Given the description of an element on the screen output the (x, y) to click on. 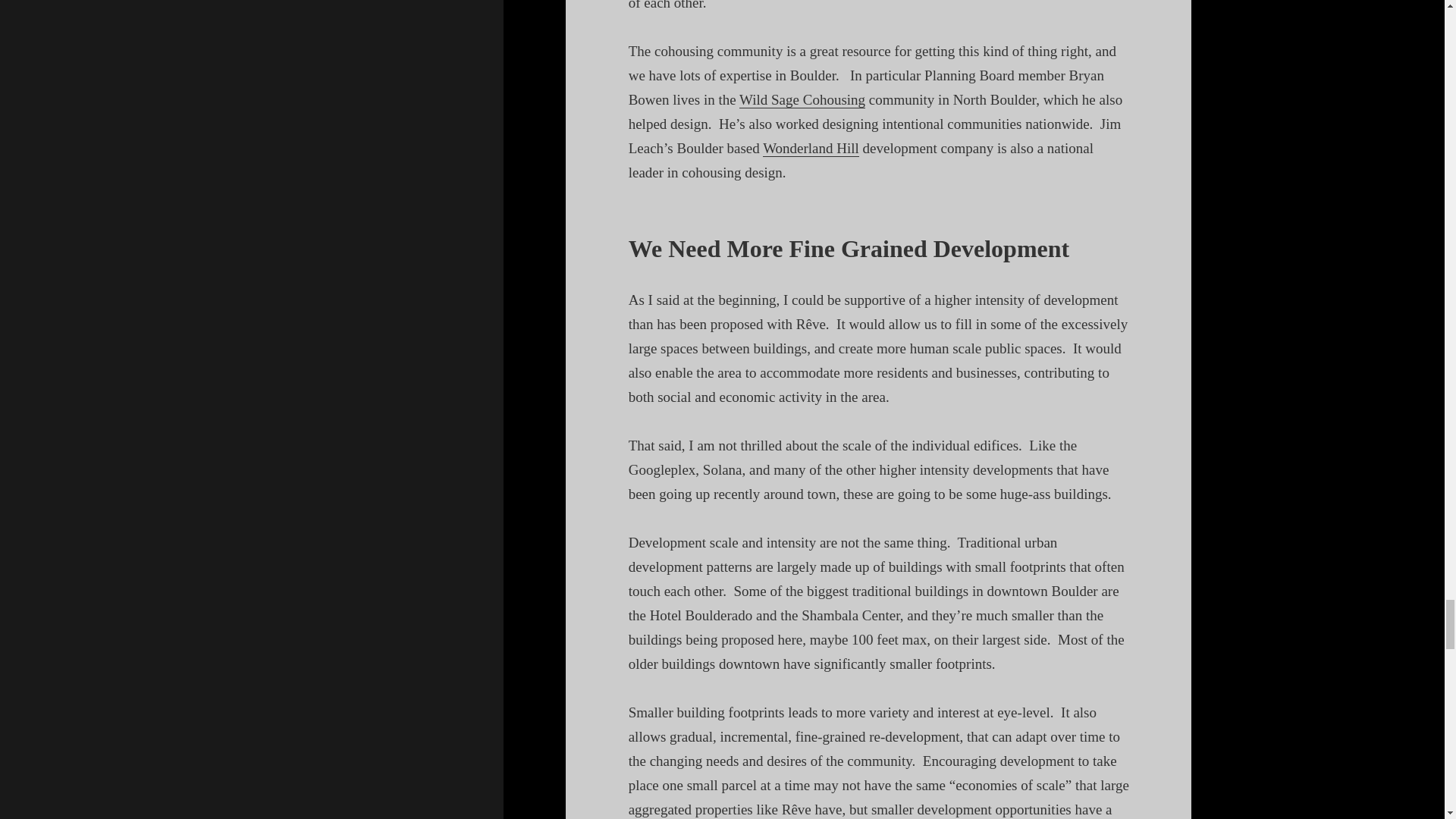
Wonderland Hill Development Company (810, 148)
Wonderland Hill (810, 148)
Wild Sage Cohousing (801, 99)
Wild Sage Cohousing (801, 99)
